Given the description of an element on the screen output the (x, y) to click on. 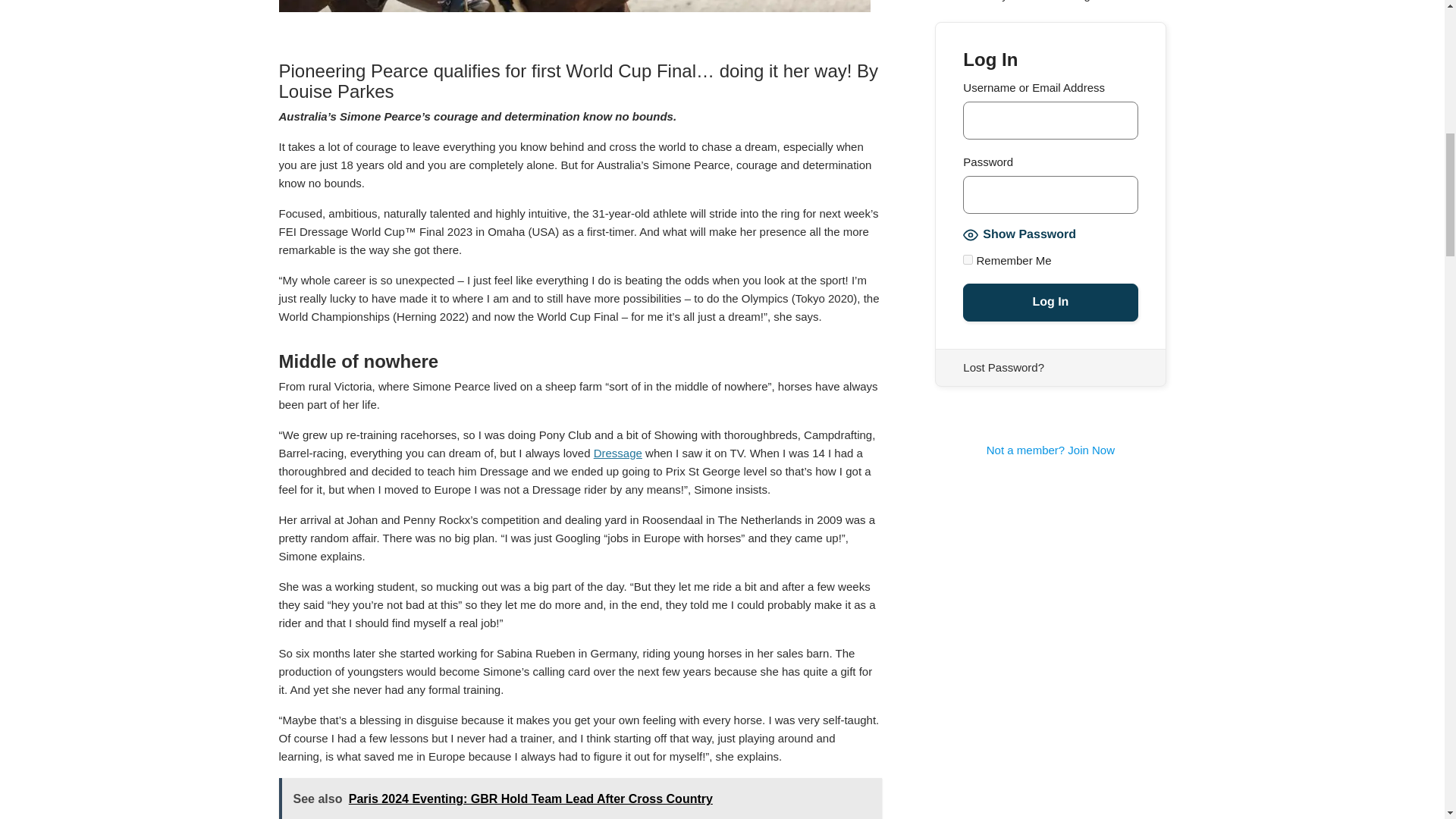
Log In (1049, 302)
forever (967, 259)
